Given the description of an element on the screen output the (x, y) to click on. 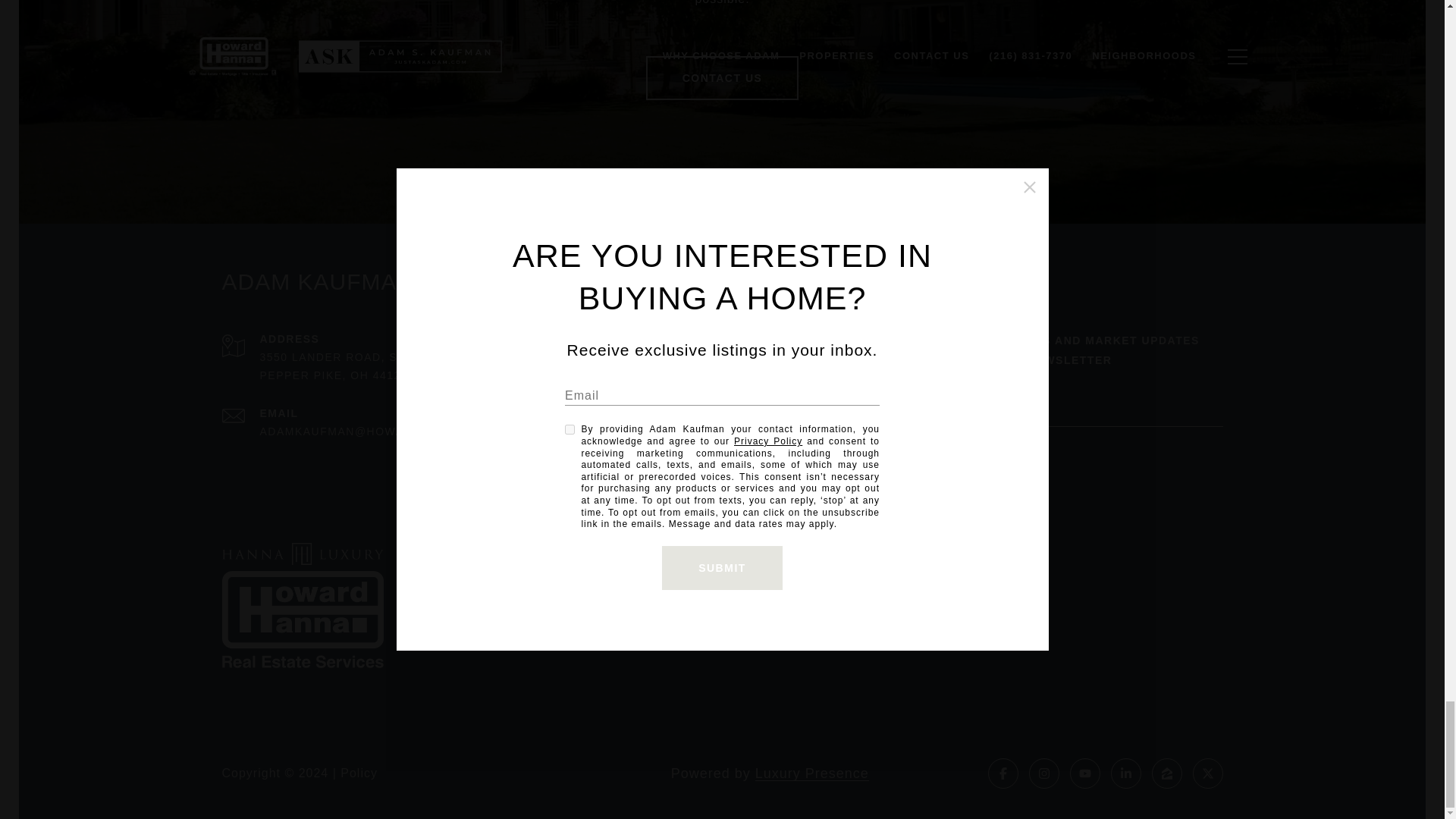
SUBSCRIBE (957, 464)
